Given the description of an element on the screen output the (x, y) to click on. 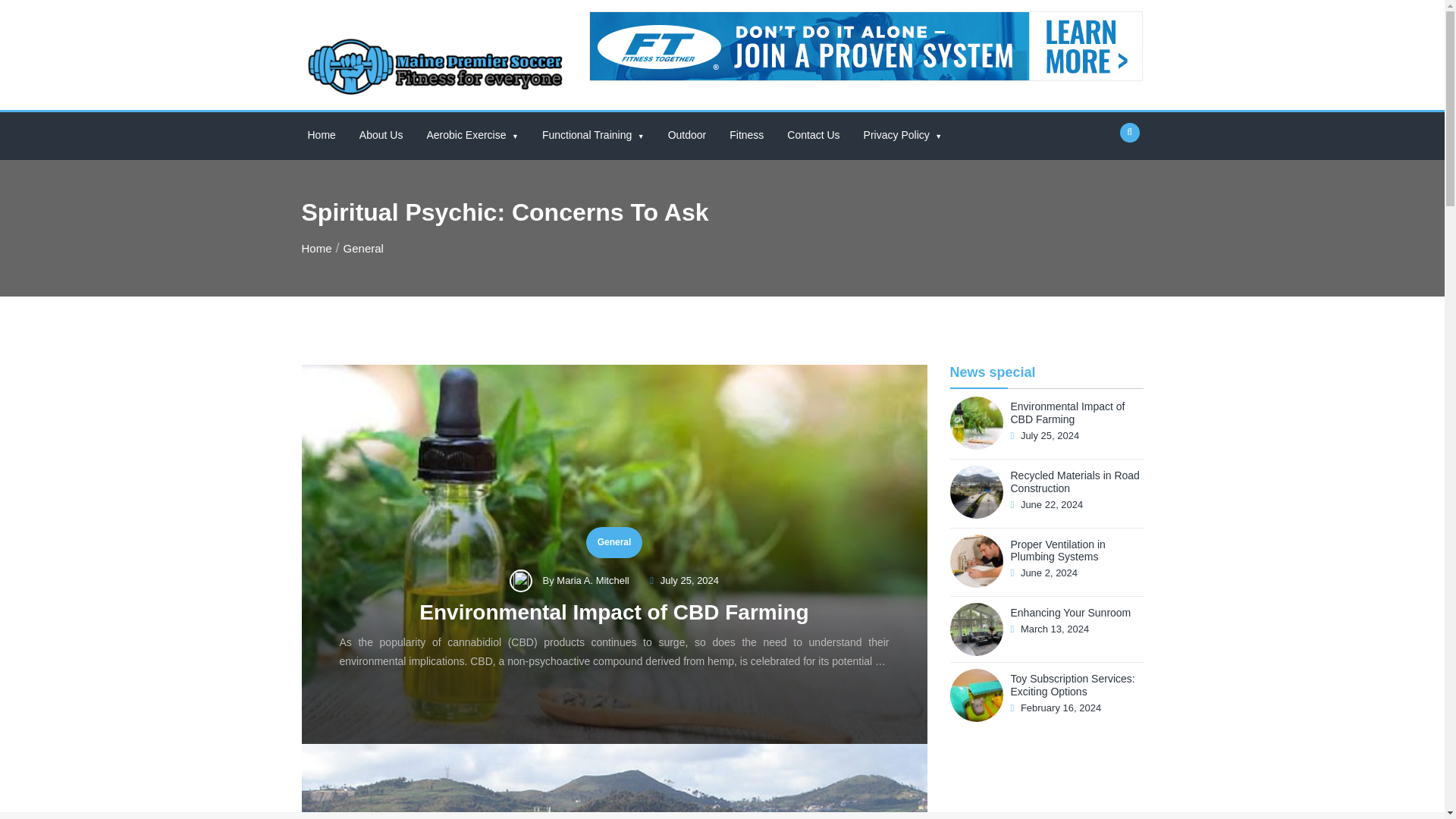
General (363, 247)
Contact Us (812, 135)
Fitness (746, 135)
Functional Training (592, 135)
Aerobic Exercise (472, 135)
Aerobic Exercise (472, 135)
General (614, 542)
Maria A. Mitchell (593, 580)
About Us (381, 135)
About Us (381, 135)
